Given the description of an element on the screen output the (x, y) to click on. 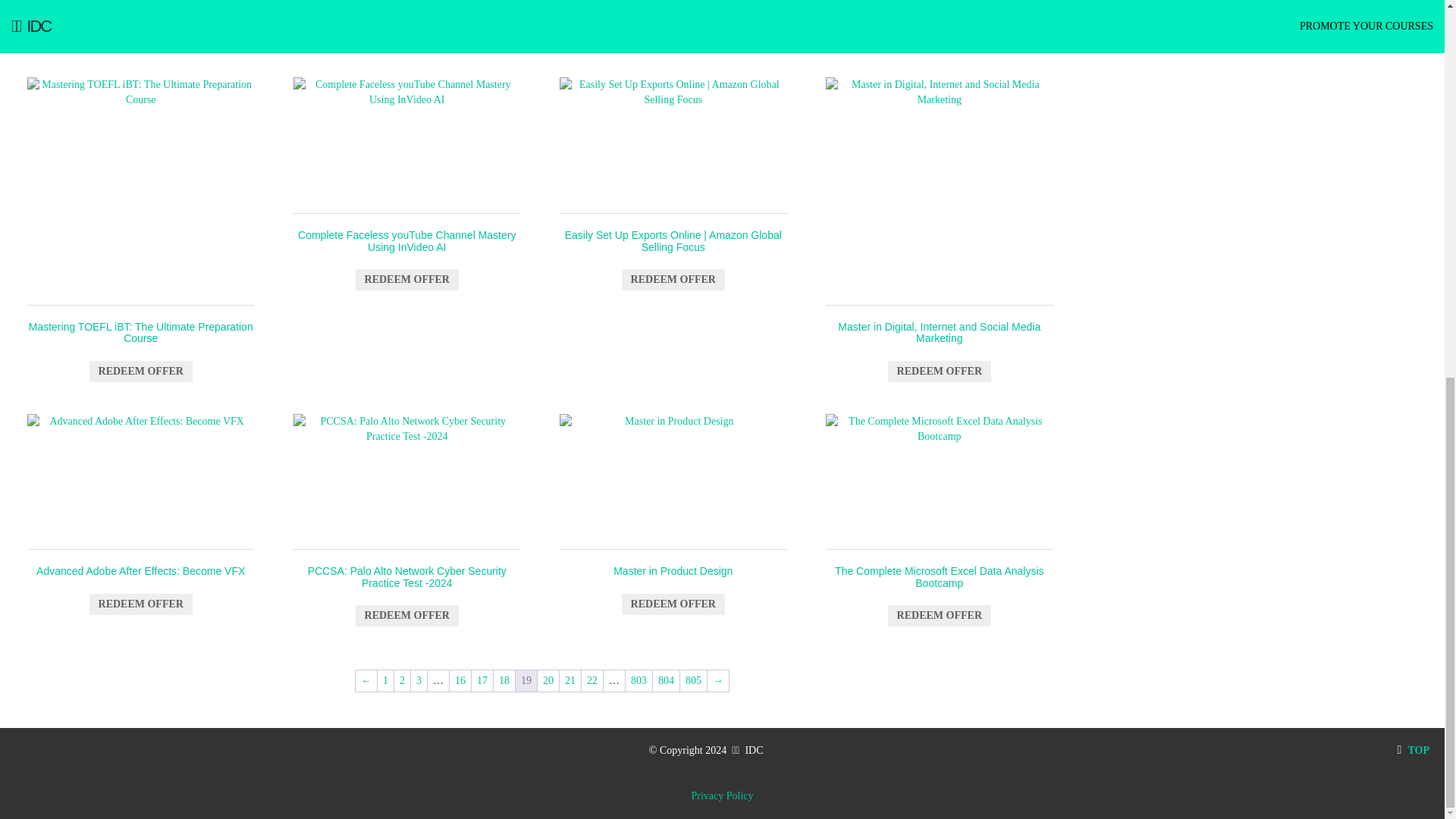
PCCSA: Palo Alto Network Cyber Security Practice Test -2024 (406, 482)
REDEEM OFFER (939, 371)
Facebook Conversions Ads Marketing For Selling Products 2023 (140, 20)
Master in Product Design (672, 482)
Advanced Adobe After Effects: Become VFX (140, 511)
REDEEM OFFER (406, 279)
REDEEM OFFER (673, 604)
REDEEM OFFER (140, 604)
REDEEM OFFER (406, 15)
REDEEM OFFER (140, 35)
